Given the description of an element on the screen output the (x, y) to click on. 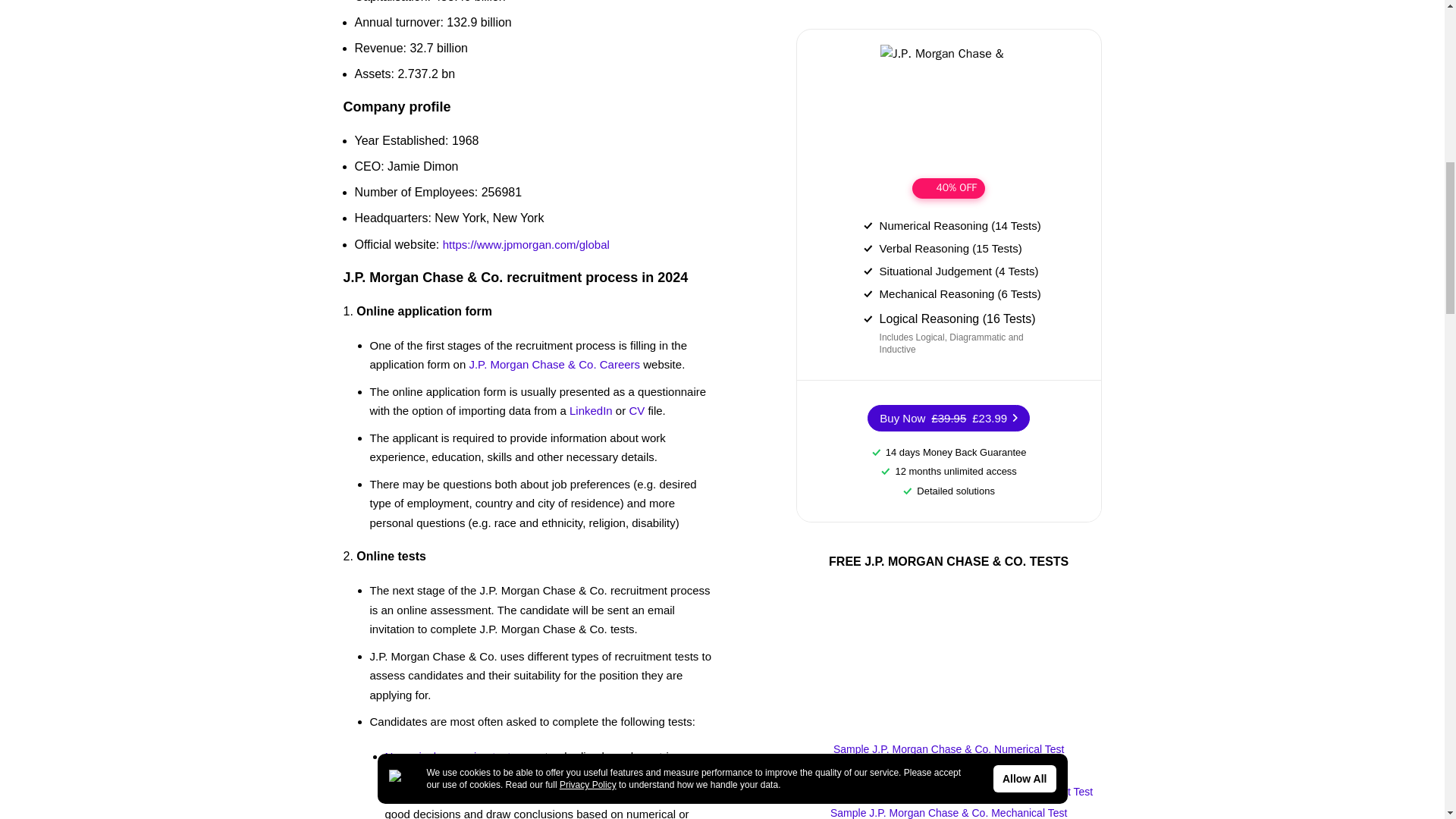
Numerical reasoning tests (450, 756)
CV (636, 410)
LinkedIn (590, 410)
